Given the description of an element on the screen output the (x, y) to click on. 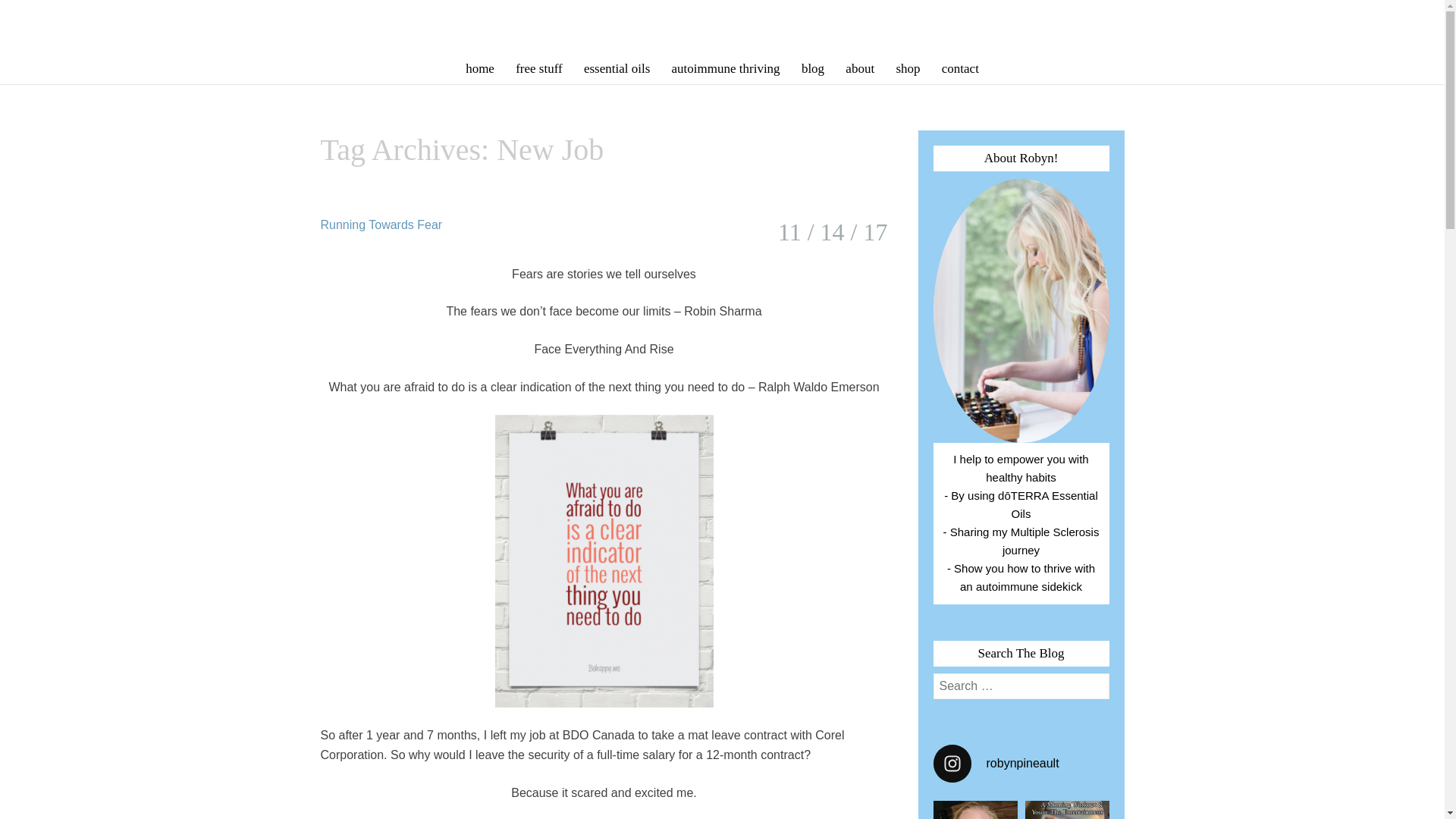
skip to content (313, 61)
about (859, 68)
shop (907, 68)
Running Towards Fear (381, 224)
home (480, 68)
free stuff (539, 68)
essential oils (617, 68)
contact (960, 68)
blog (812, 68)
autoimmune thriving (725, 68)
